Given the description of an element on the screen output the (x, y) to click on. 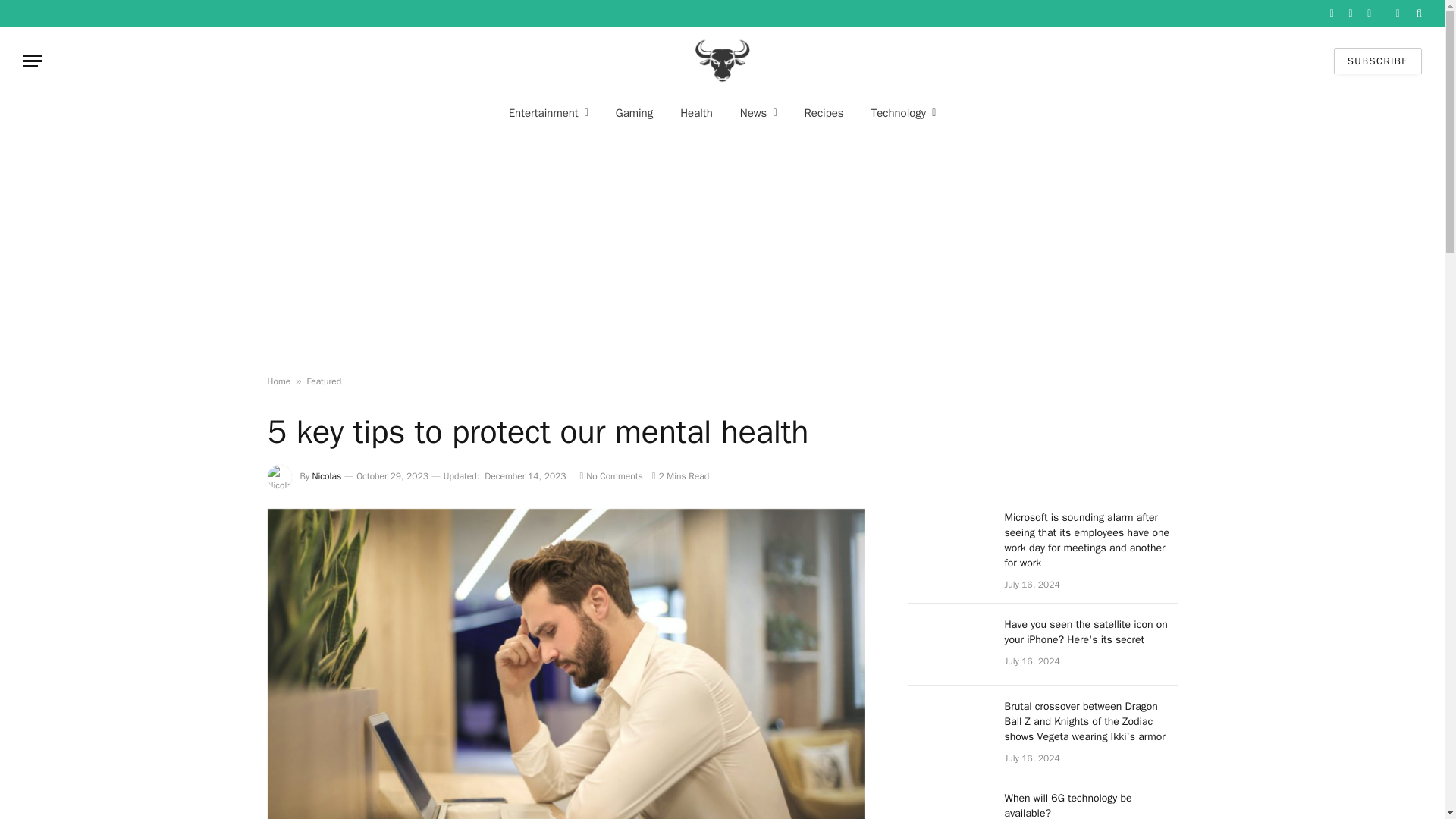
Switch to Dark Design - easier on eyes. (1397, 13)
Posts by Nicolas (327, 476)
